Given the description of an element on the screen output the (x, y) to click on. 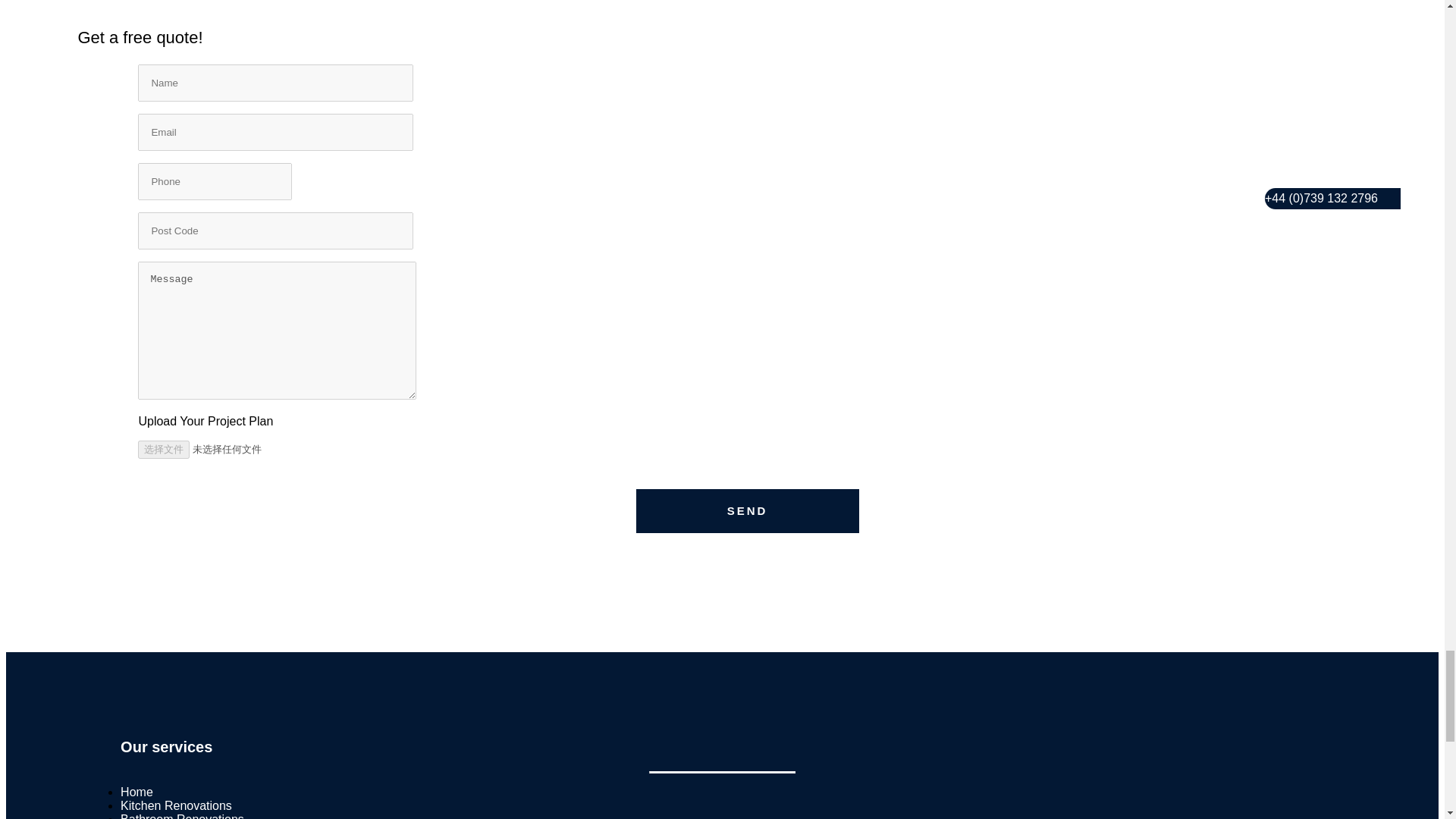
SEND (747, 510)
Home (136, 791)
SEND (747, 510)
Kitchen Renovations (175, 805)
Bathroom Renovations (182, 816)
